Given the description of an element on the screen output the (x, y) to click on. 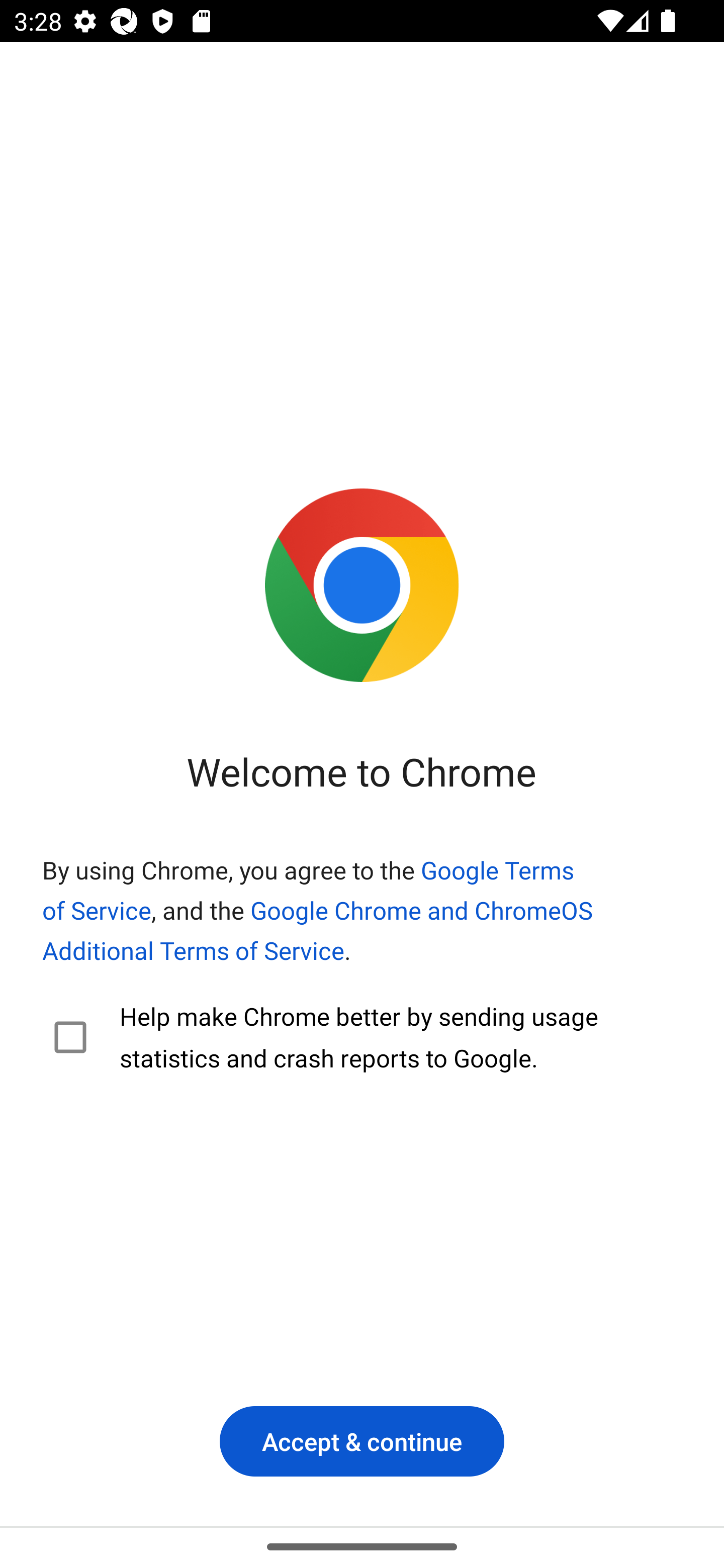
Accept & continue (361, 1440)
